Given the description of an element on the screen output the (x, y) to click on. 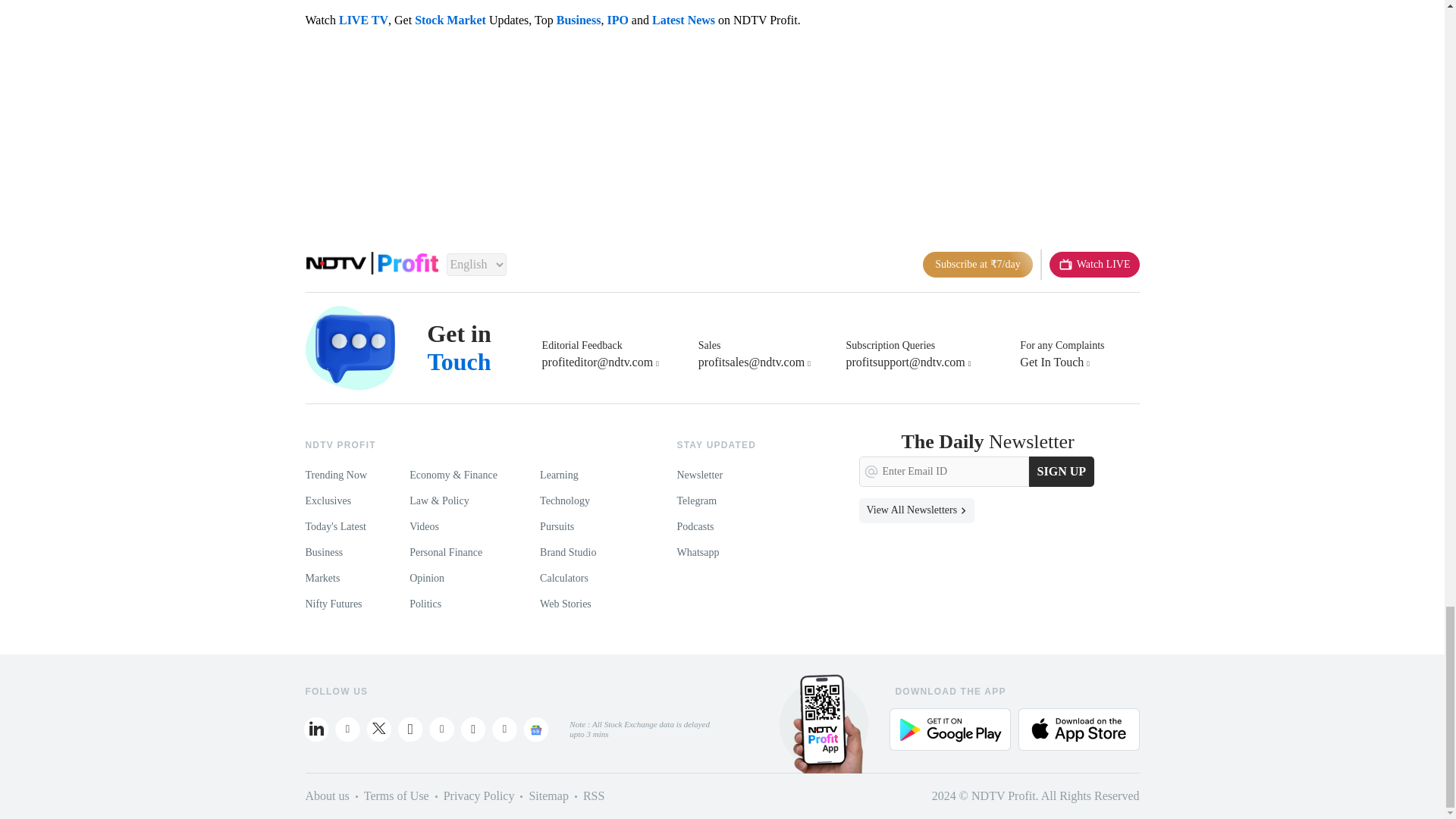
Live TV (1094, 264)
